Given the description of an element on the screen output the (x, y) to click on. 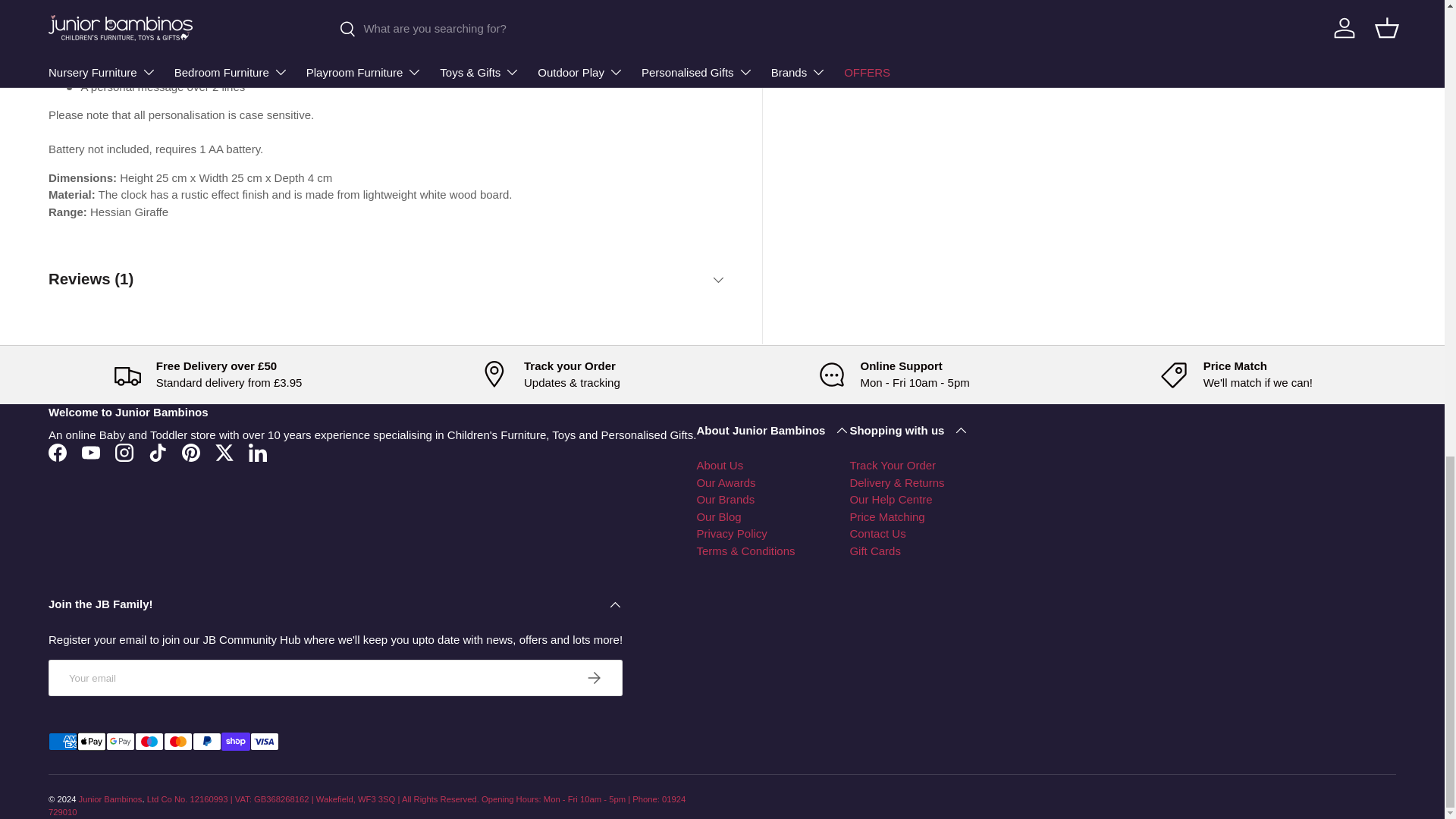
Junior Bambinos on Twitter (224, 452)
Junior Bambinos on Instagram (124, 452)
Junior Bambinos on YouTube (90, 452)
Junior Bambinos on TikTok (157, 452)
Junior Bambinos on Facebook (57, 452)
Junior Bambinos on Pinterest (191, 452)
Junior Bambinos on LinkedIn (258, 452)
